Given the description of an element on the screen output the (x, y) to click on. 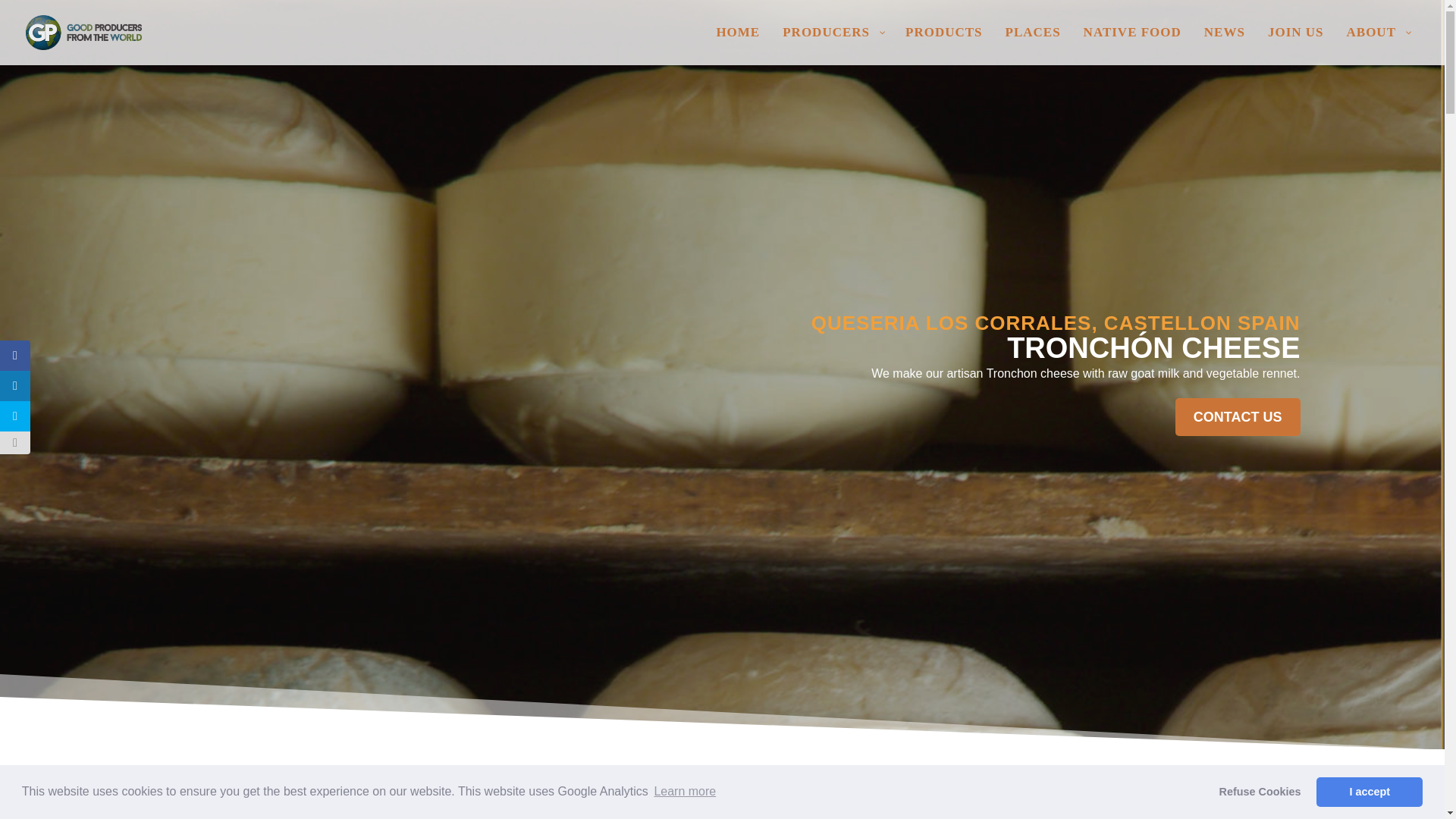
PRODUCERS (832, 45)
Overview of producers from all over the world (832, 45)
NEWS (1224, 45)
Learn more (683, 791)
Join us (1295, 45)
Refuse Cookies (1259, 791)
I accept (1369, 791)
About us (1378, 45)
Homepage (737, 45)
PLACES (1032, 45)
PRODUCTS (943, 45)
ABOUT (1378, 45)
Overview of products elaborated with love (943, 45)
NATIVE FOOD (1131, 45)
CONTACT US (1237, 416)
